Given the description of an element on the screen output the (x, y) to click on. 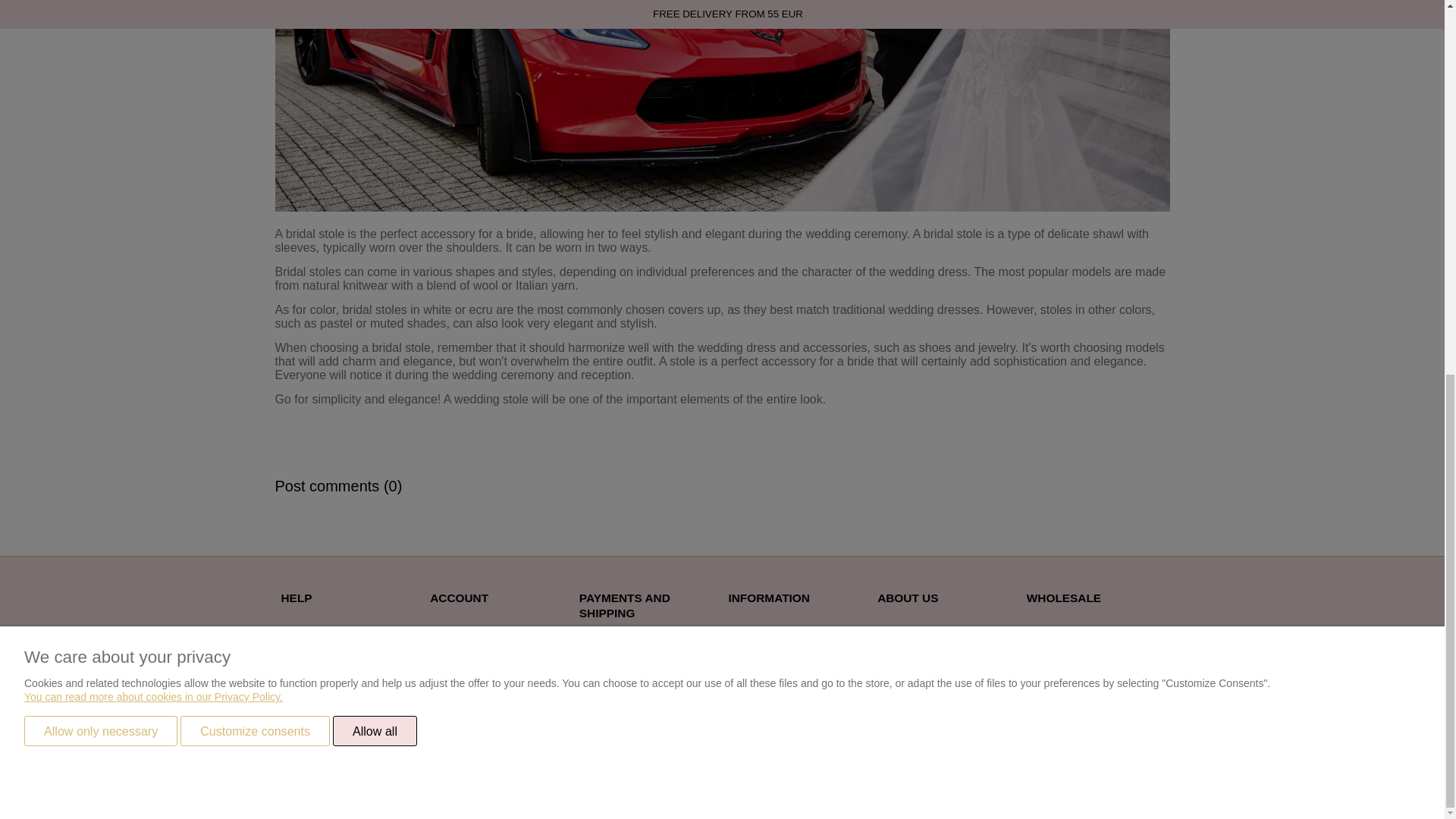
Shop Regulation (320, 651)
Orders (446, 651)
Gift Voucher Regulations (339, 670)
Contact (895, 631)
Shipping (600, 646)
Made-to-measurement (781, 651)
FAQ (291, 631)
Gift Voucher Regulations (339, 670)
Account Settings (469, 631)
Size Chart (752, 631)
